Given the description of an element on the screen output the (x, y) to click on. 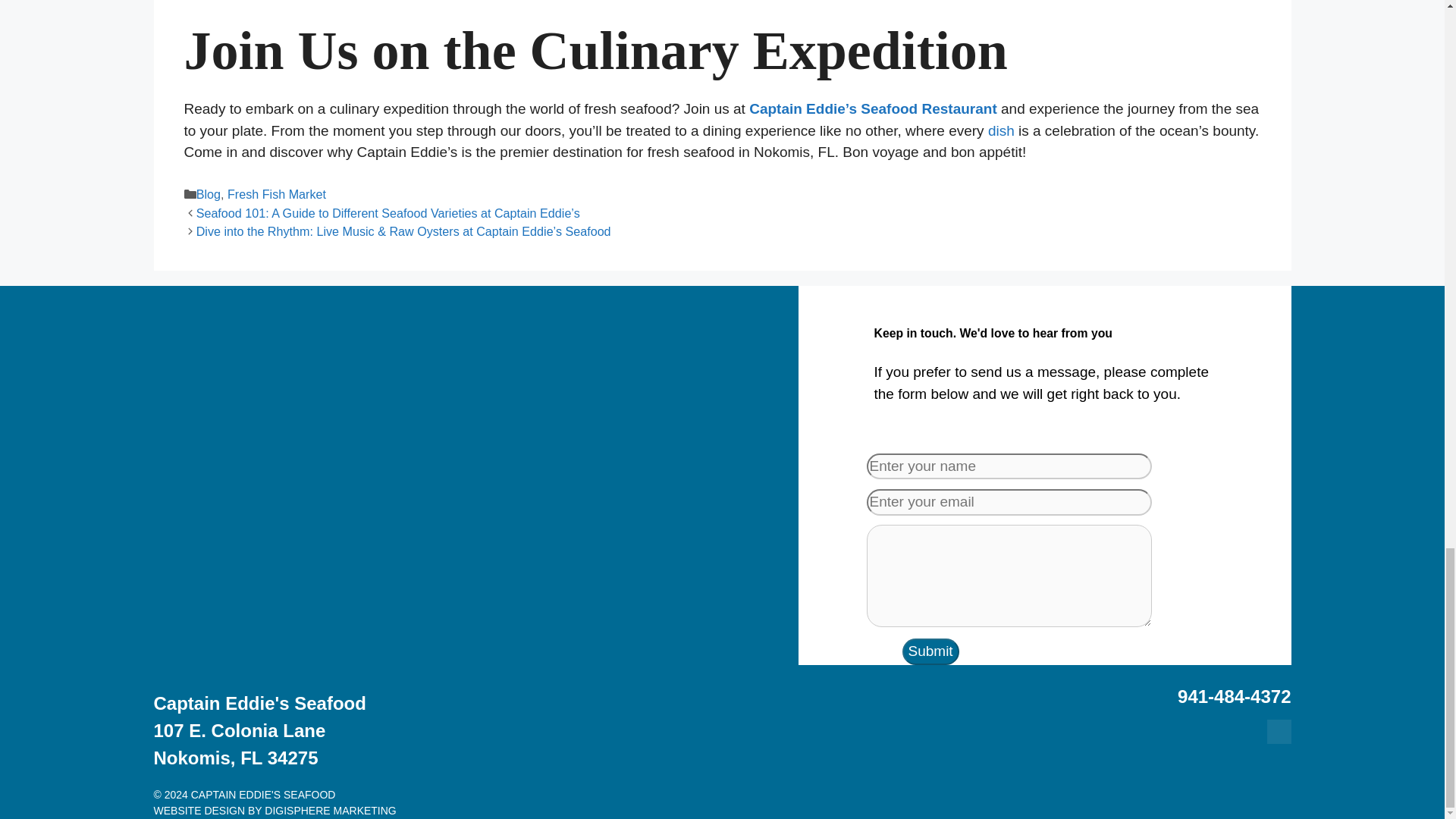
Submit (930, 651)
dish (1001, 130)
Fresh Fish Market (276, 193)
Blog (208, 193)
